Given the description of an element on the screen output the (x, y) to click on. 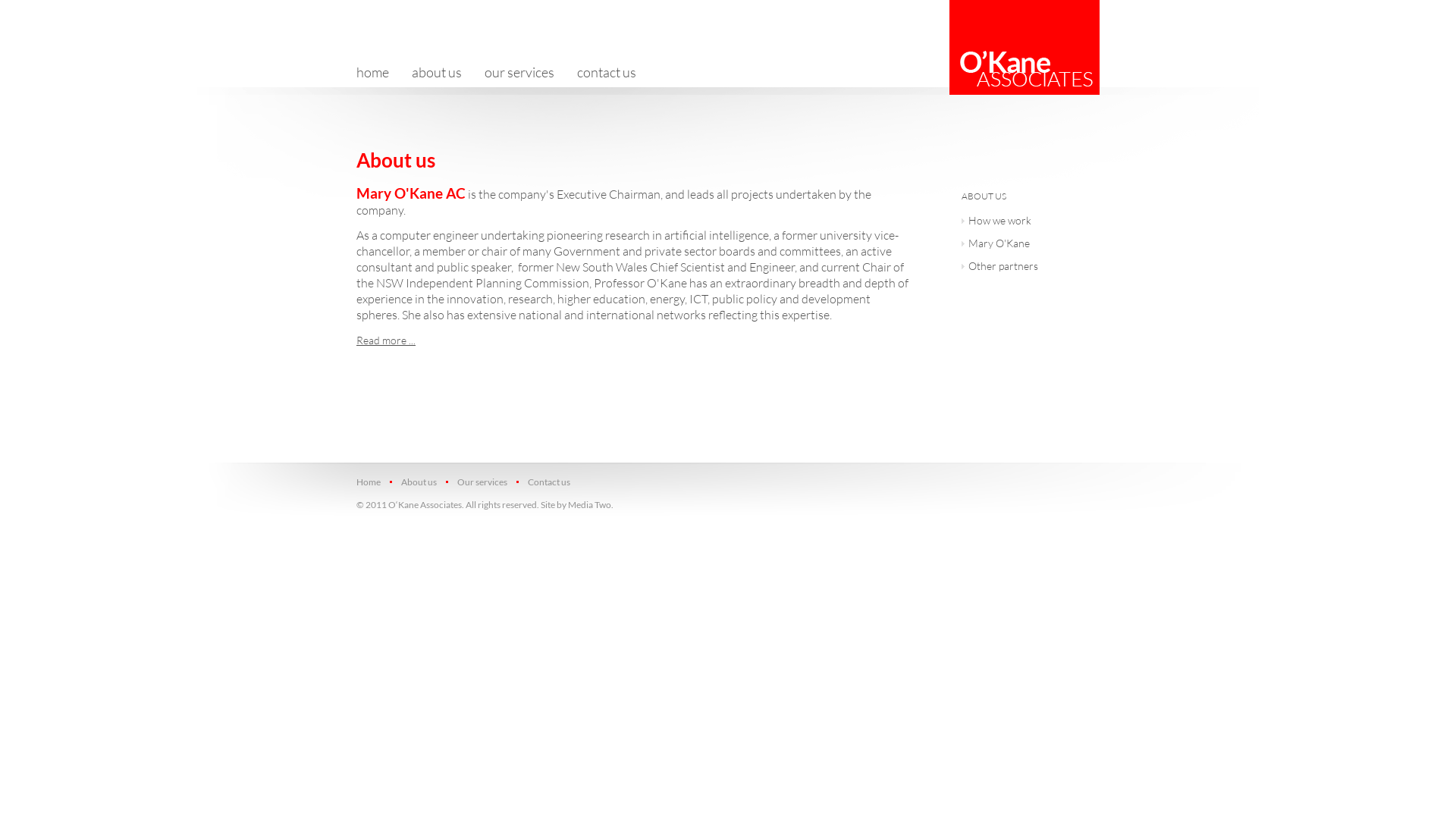
How we work Element type: text (1024, 221)
home Element type: text (378, 71)
about us Element type: text (436, 71)
About us Element type: text (417, 481)
Media Two Element type: text (589, 504)
Read more ... Element type: text (385, 339)
Mary O'Kane Element type: text (1024, 244)
Our services Element type: text (480, 481)
Contact us Element type: text (547, 481)
contact us Element type: text (606, 71)
Other partners Element type: text (1024, 267)
our services Element type: text (519, 71)
Home Element type: text (372, 481)
